Given the description of an element on the screen output the (x, y) to click on. 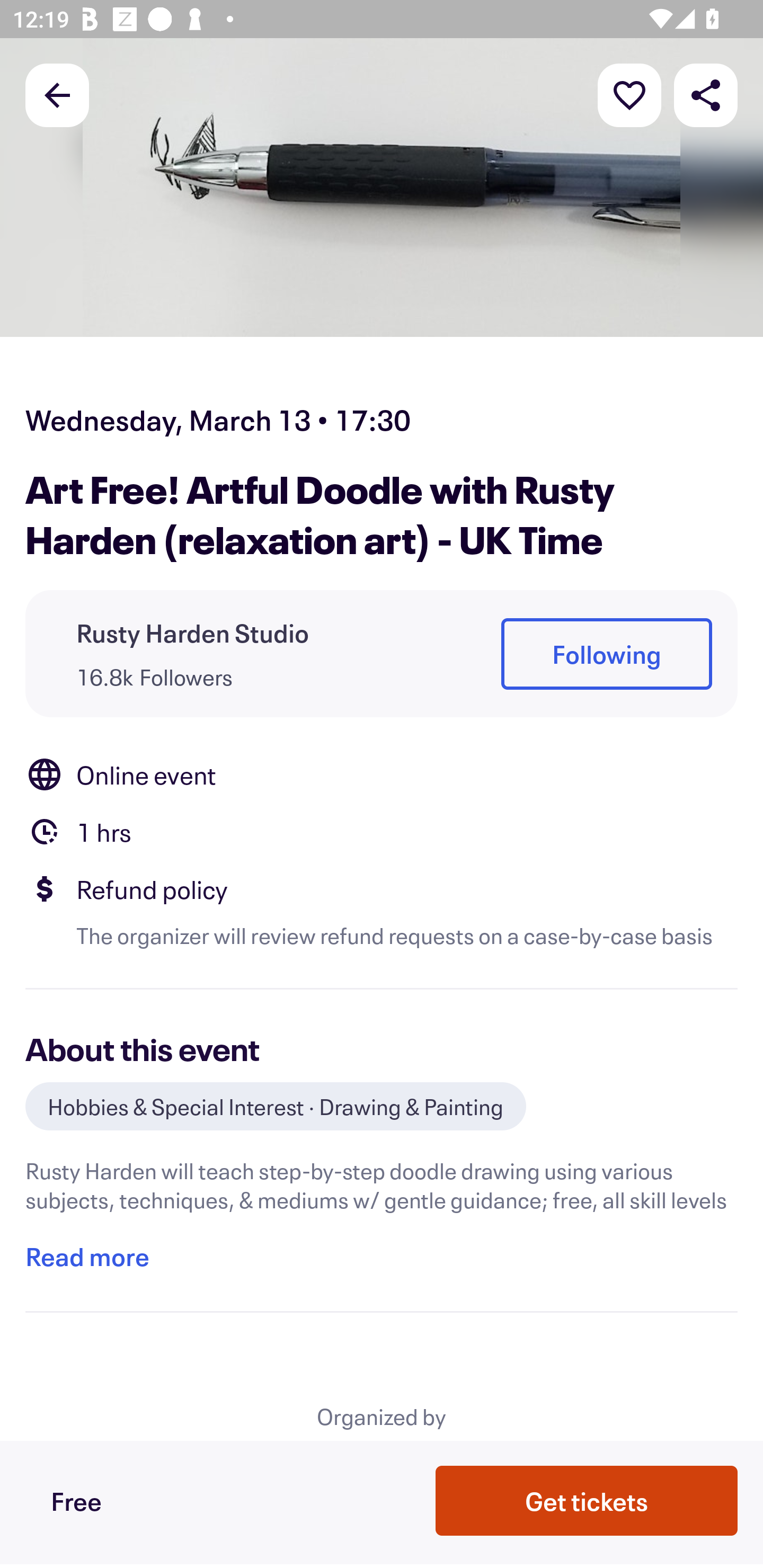
Back (57, 94)
More (629, 94)
Share (705, 94)
Rusty Harden Studio (192, 632)
Following (606, 654)
Location Online event (381, 774)
Read more (87, 1256)
